Given the description of an element on the screen output the (x, y) to click on. 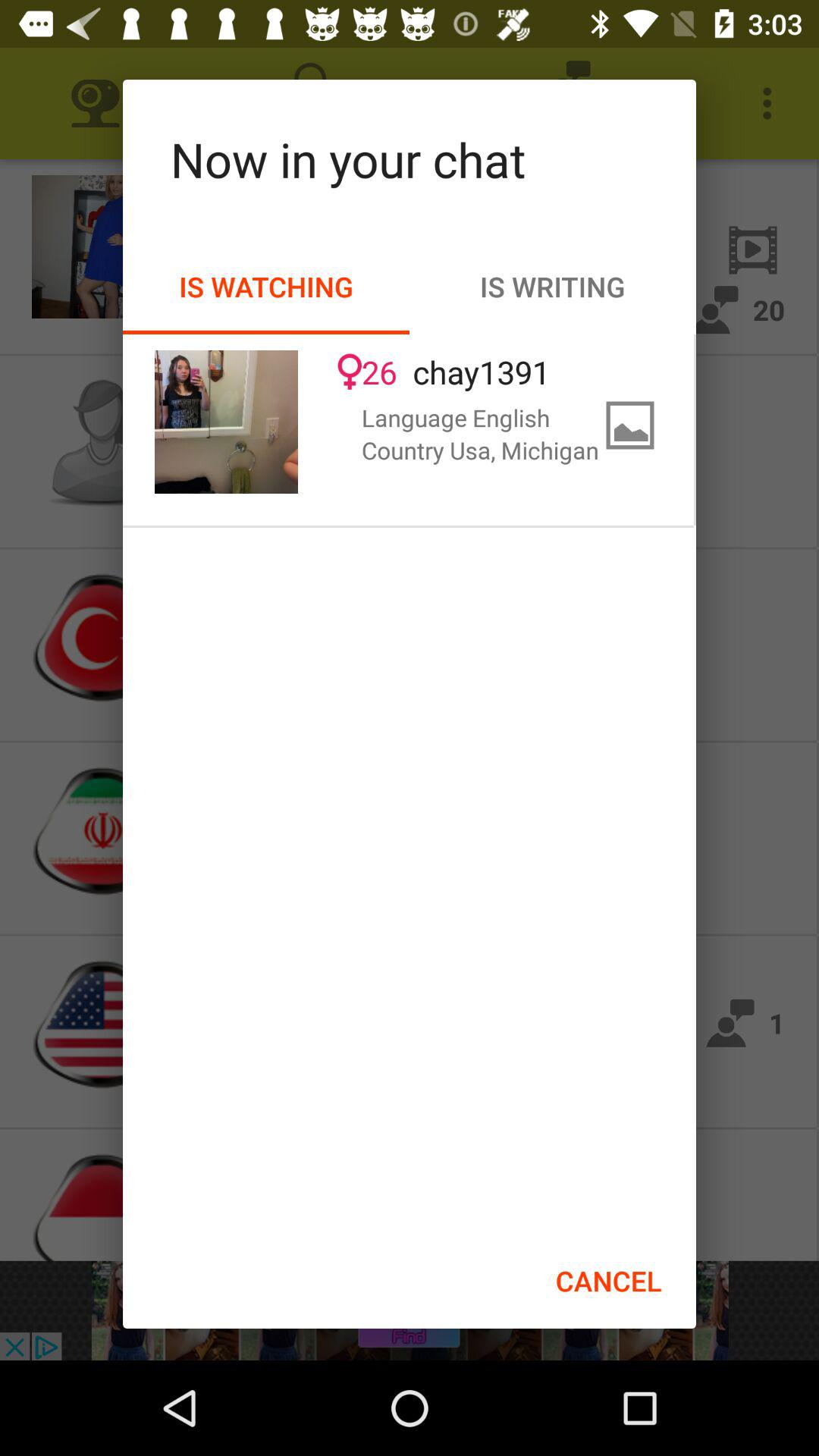
press the item to the left of 26 item (226, 421)
